Given the description of an element on the screen output the (x, y) to click on. 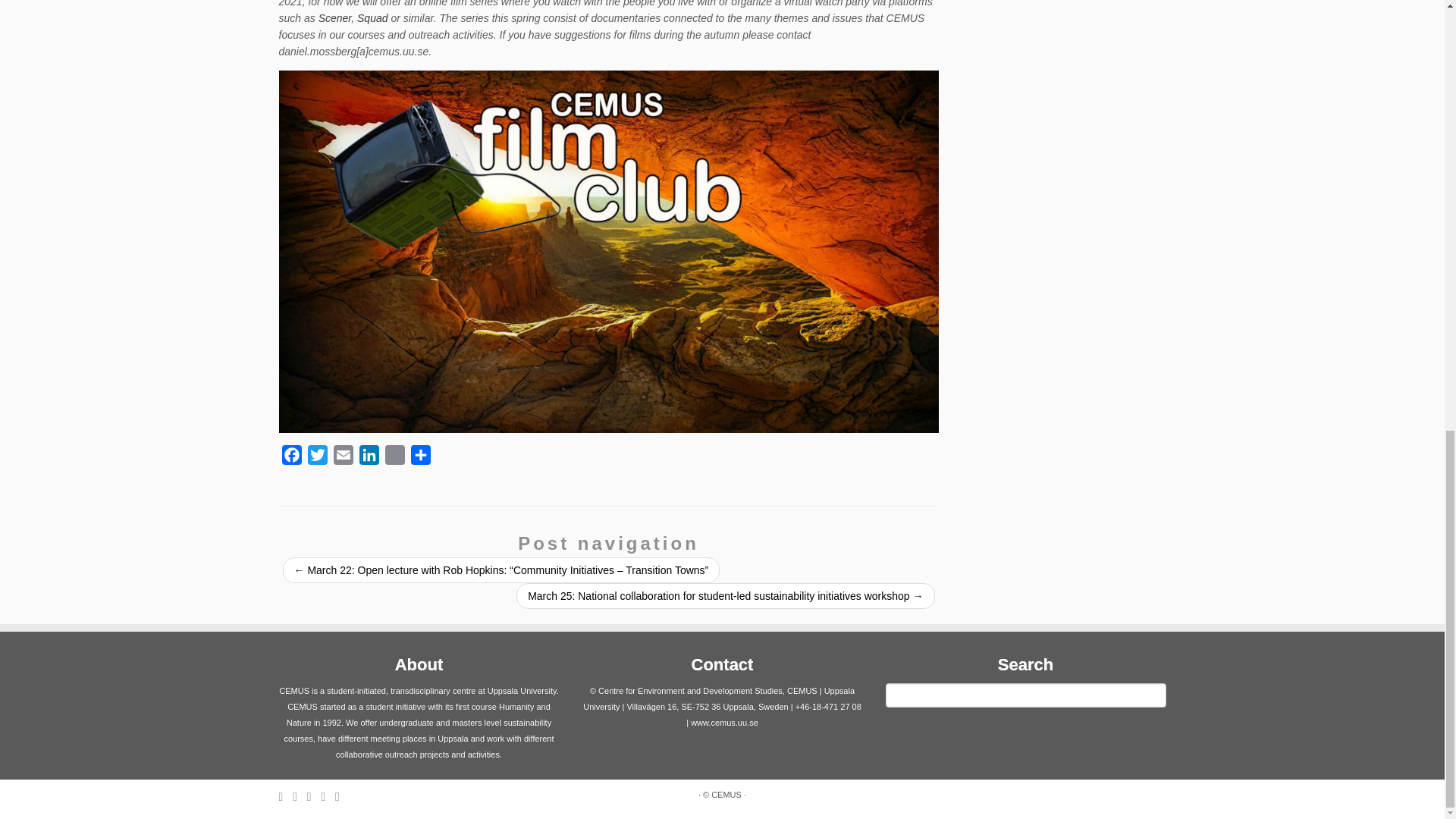
LinkedIn (368, 457)
Email (343, 457)
Twitter (317, 457)
Print (394, 457)
Facebook (291, 457)
